Given the description of an element on the screen output the (x, y) to click on. 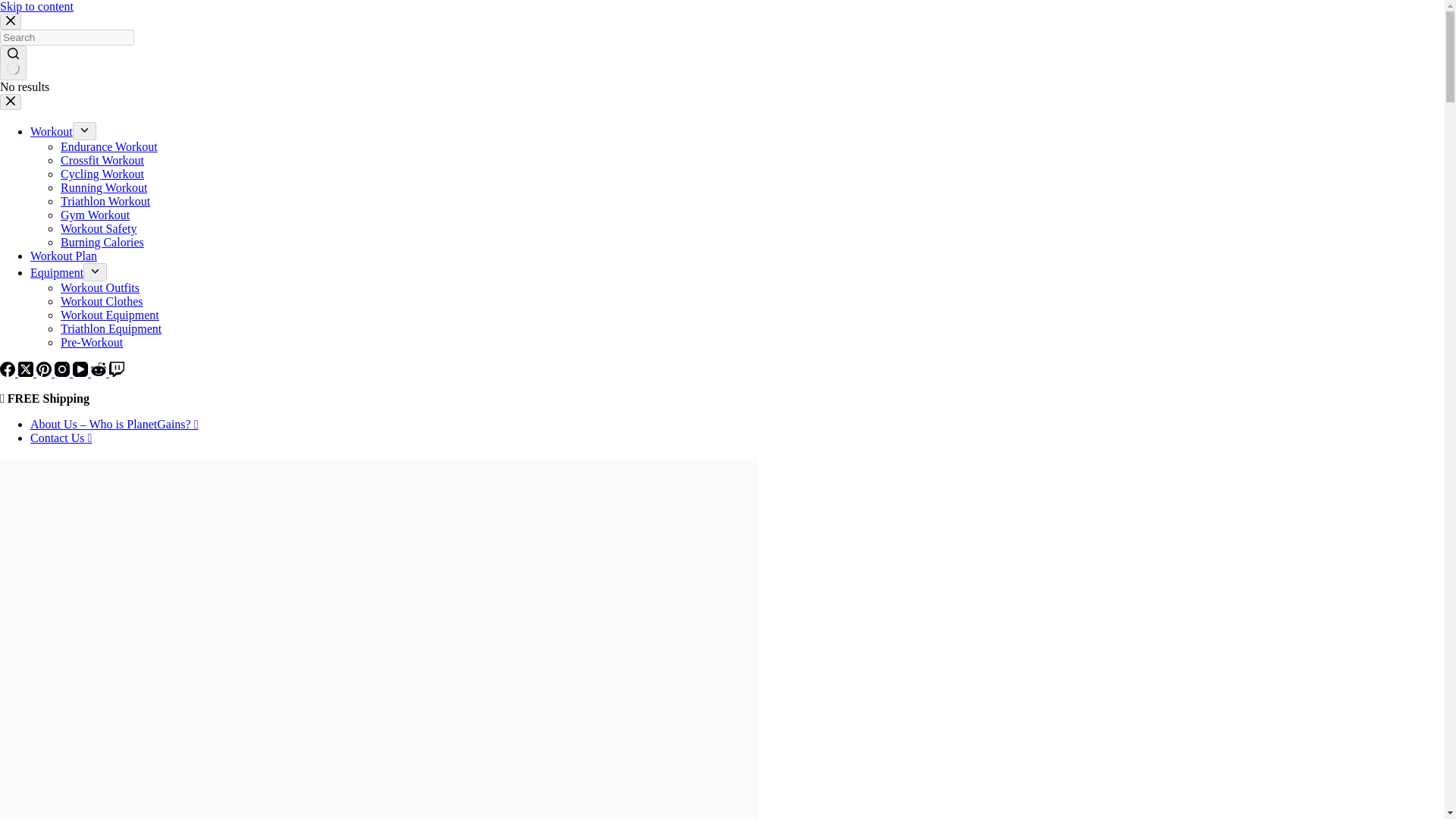
Pre-Workout (91, 341)
Equipment (56, 272)
Triathlon Equipment (111, 328)
Gym Workout (95, 214)
Workout Safety (98, 228)
Crossfit Workout (102, 160)
Search for... (66, 37)
Cycling Workout (102, 173)
Workout Plan (63, 255)
Skip to content (37, 6)
